Given the description of an element on the screen output the (x, y) to click on. 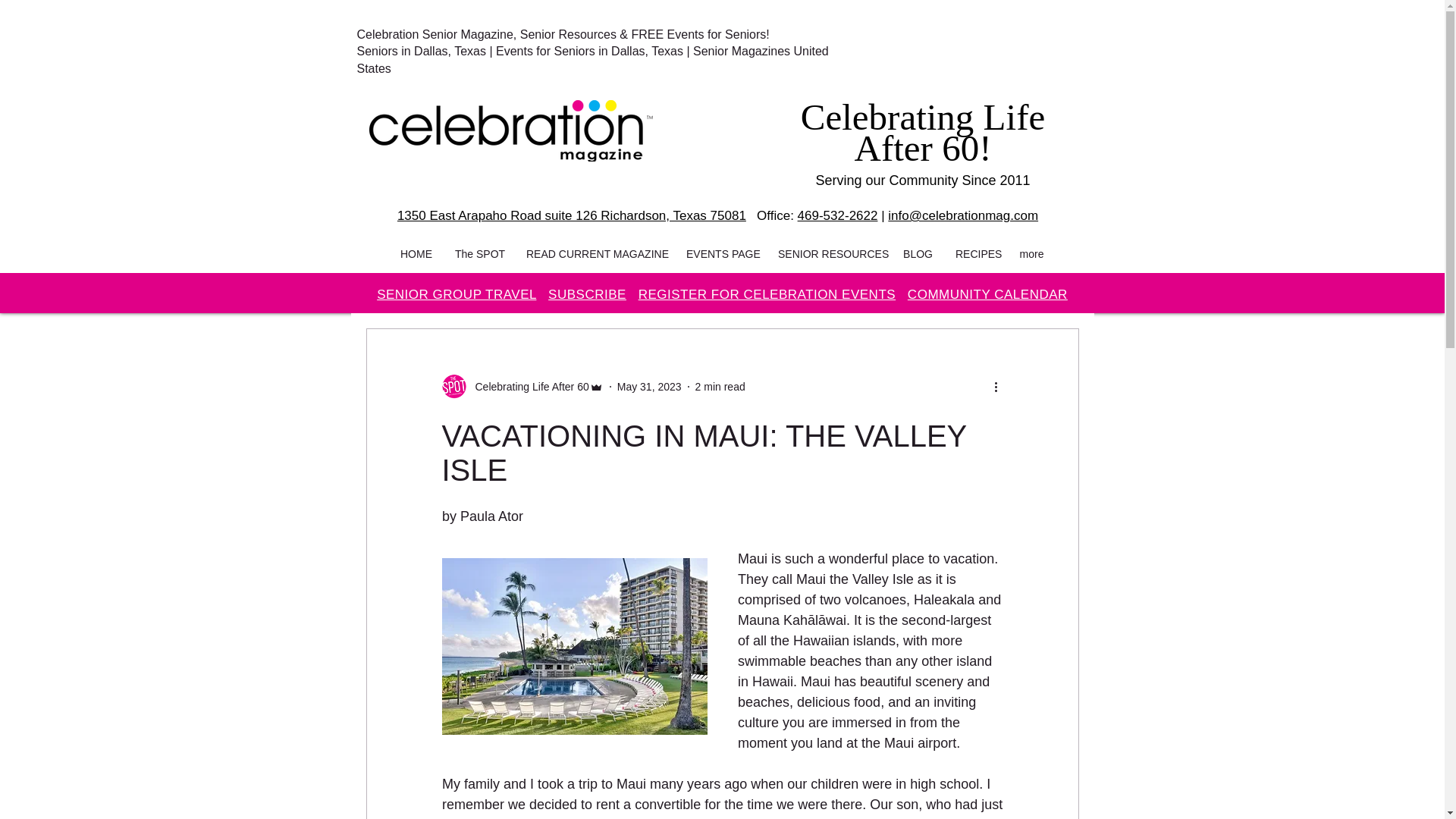
May 31, 2023 (649, 386)
469-532-2622 (837, 215)
The SPOT (479, 254)
BLOG (917, 254)
HOME (416, 254)
RECIPES (975, 254)
Celebrating Life After 60 (526, 386)
1350 East Arapaho Road suite 126 Richardson, Texas 75081 (571, 215)
READ CURRENT MAGAZINE (595, 254)
2 min read (720, 386)
SENIOR RESOURCES (829, 254)
REGISTER FOR CELEBRATION EVENTS (767, 294)
EVENTS PAGE (721, 254)
SENIOR GROUP TRAVEL (456, 294)
COMMUNITY CALENDAR (987, 294)
